Given the description of an element on the screen output the (x, y) to click on. 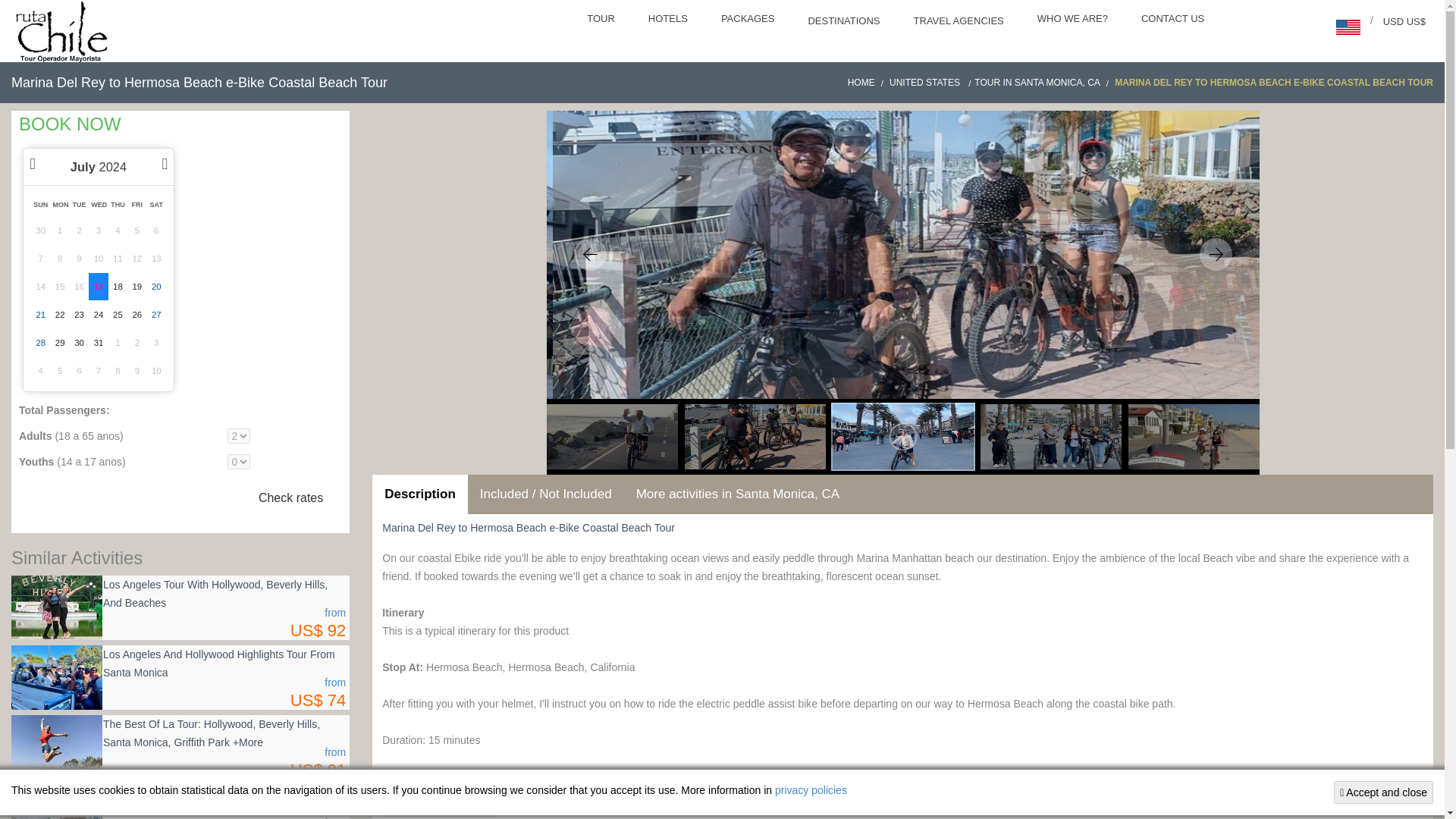
TOUR (602, 20)
DESTINATIONS (845, 22)
HOME (866, 81)
TOUR IN SANTA MONICA, CA (1043, 81)
TRAVEL AGENCIES (960, 22)
Check rates (291, 498)
PACKAGES (749, 20)
WHO WE ARE? (1073, 20)
CONTACT US (1174, 20)
HOTELS (669, 20)
UNITED STATES (931, 81)
